Given the description of an element on the screen output the (x, y) to click on. 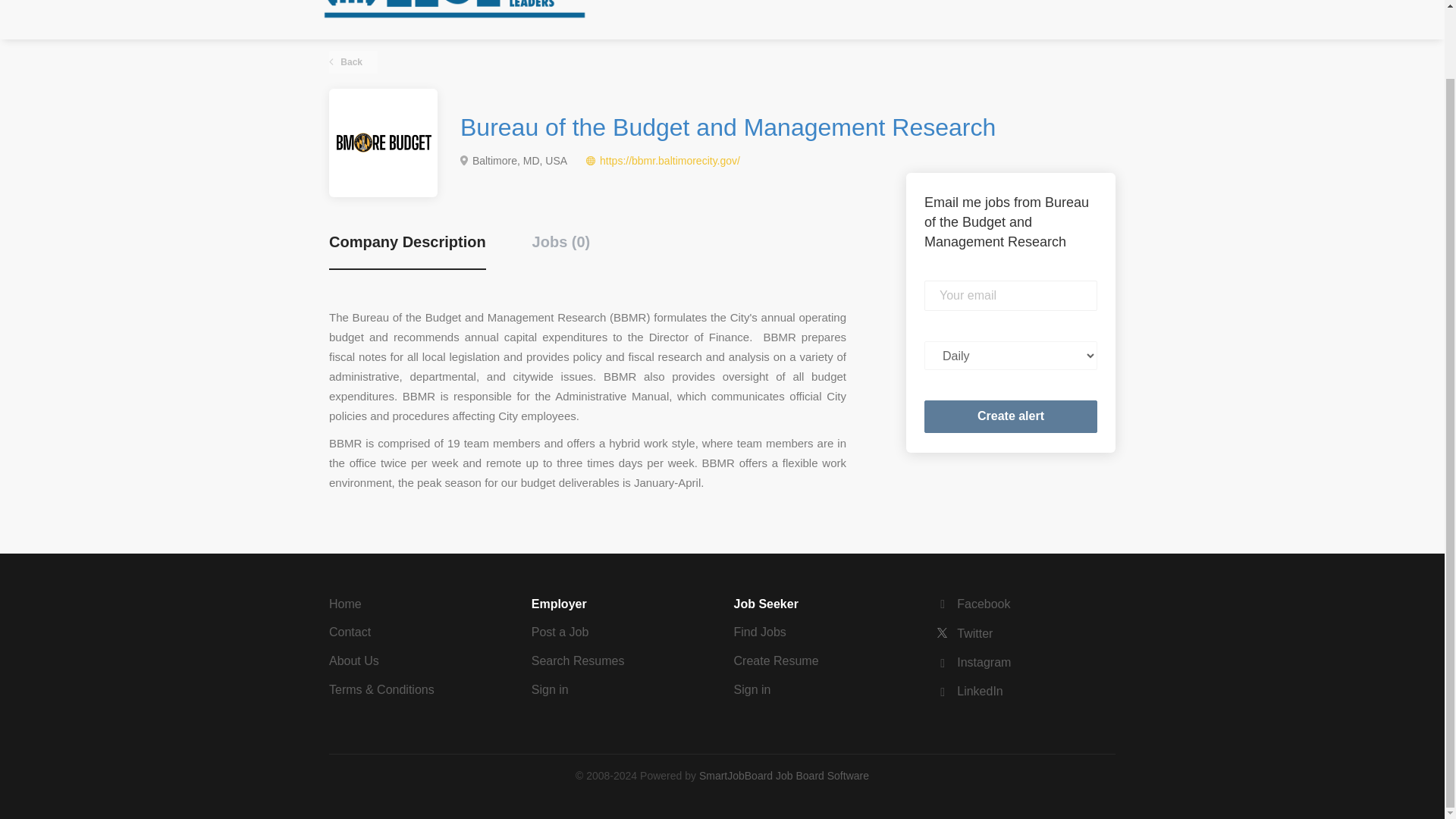
Contact (350, 631)
Job Board Software, Script (783, 775)
Facebook (973, 603)
Find Jobs (759, 631)
SmartJobBoard Job Board Software (783, 775)
Sign in (752, 689)
About Us (353, 660)
LinkedIn (969, 690)
Twitter (964, 633)
Instagram (973, 662)
